Given the description of an element on the screen output the (x, y) to click on. 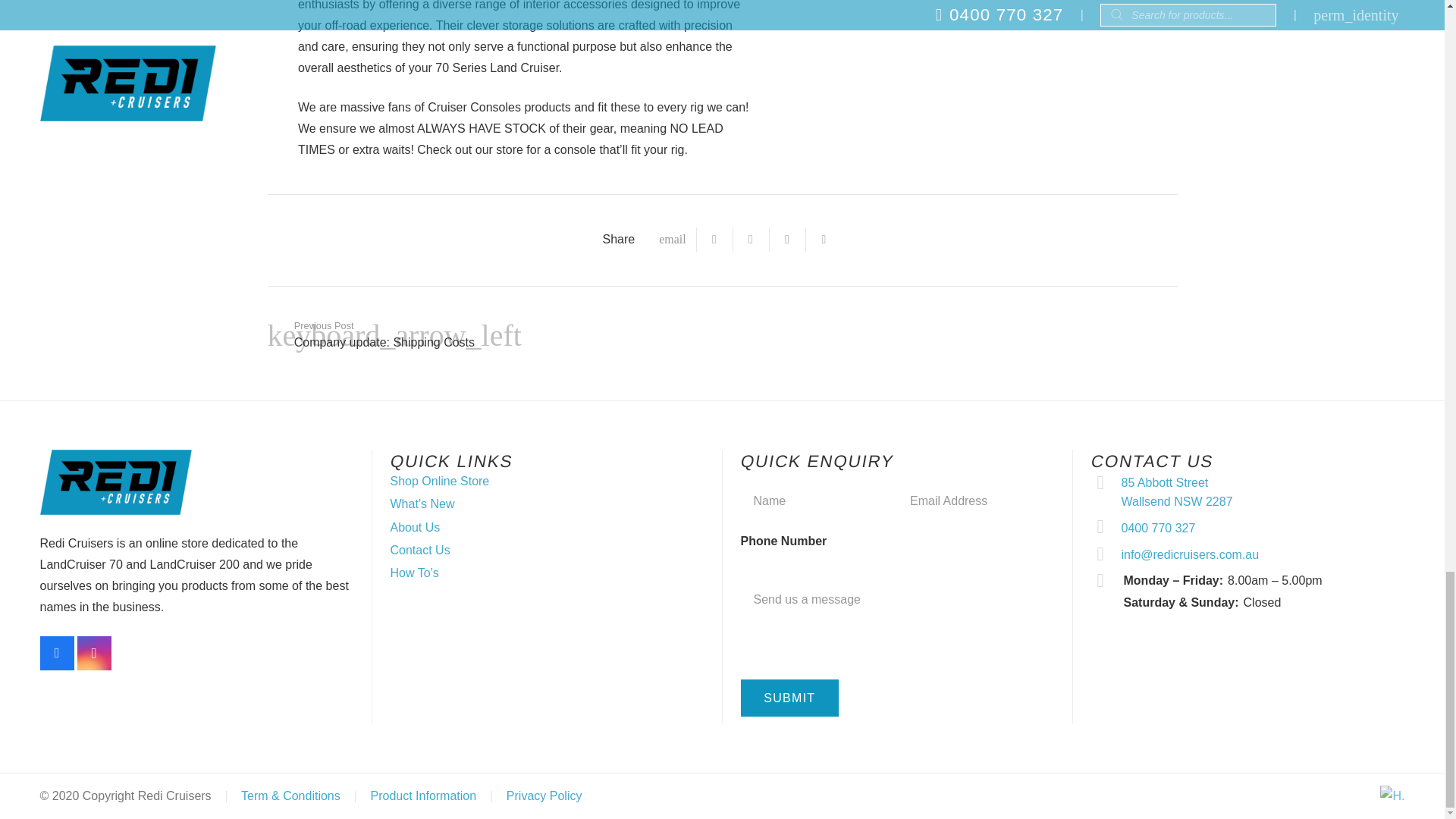
Instagram (94, 653)
Company update: Shipping Costs (494, 334)
Submit (788, 697)
Facebook (56, 653)
Email this (672, 239)
Pin this (824, 239)
Share this (715, 239)
Tweet this (751, 239)
Share this (788, 239)
